Given the description of an element on the screen output the (x, y) to click on. 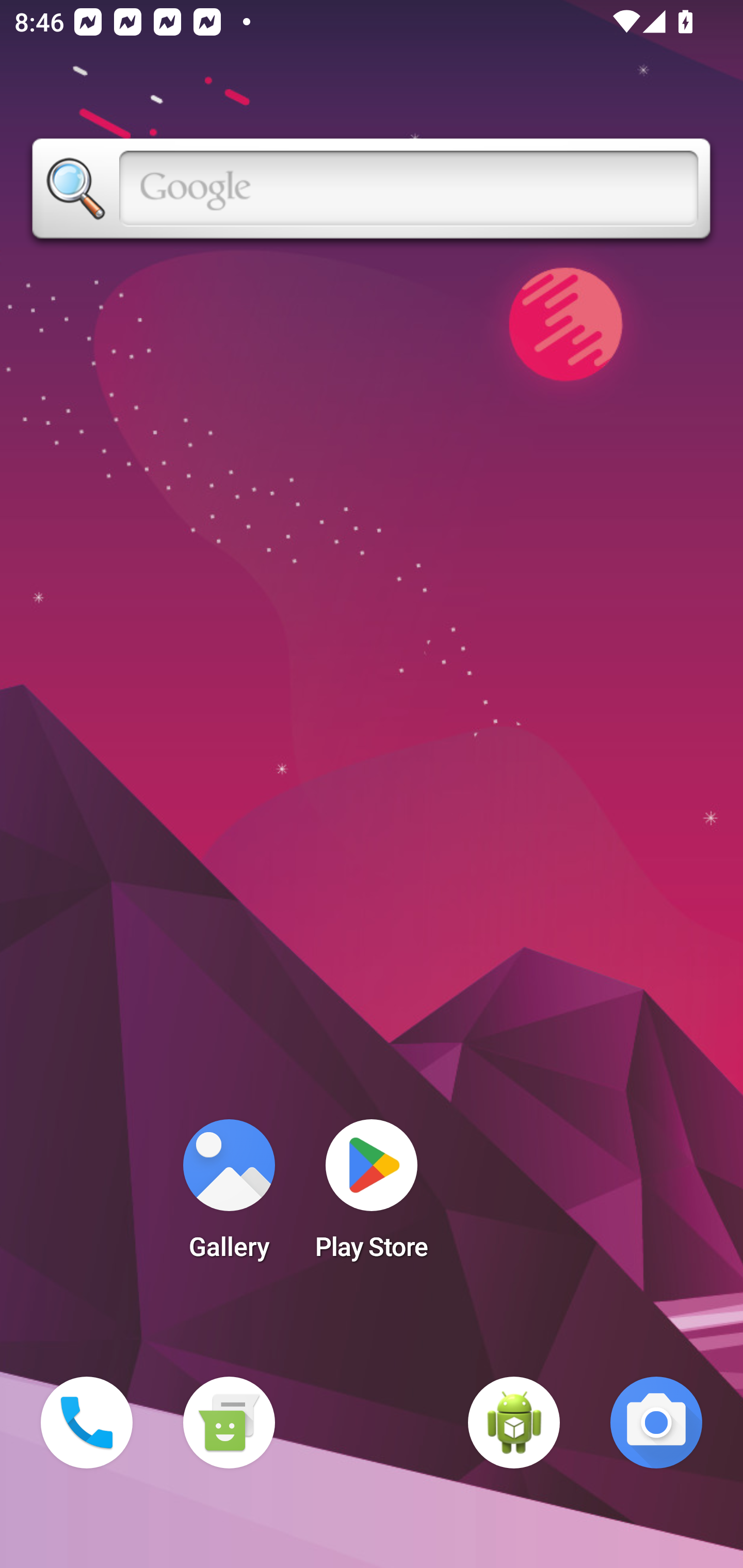
Gallery (228, 1195)
Play Store (371, 1195)
Phone (86, 1422)
Messaging (228, 1422)
WebView Browser Tester (513, 1422)
Camera (656, 1422)
